Given the description of an element on the screen output the (x, y) to click on. 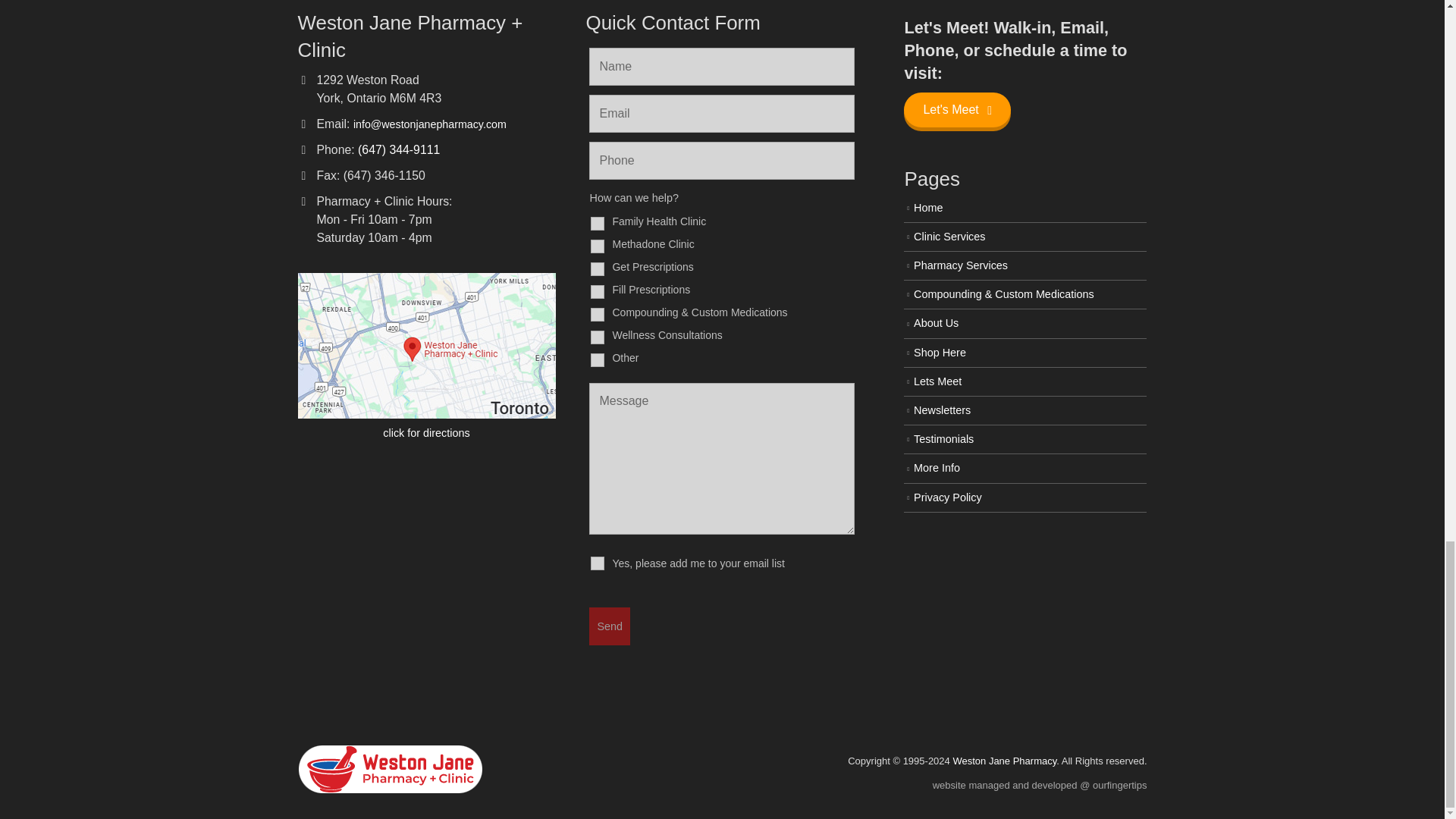
Send (609, 626)
